Given the description of an element on the screen output the (x, y) to click on. 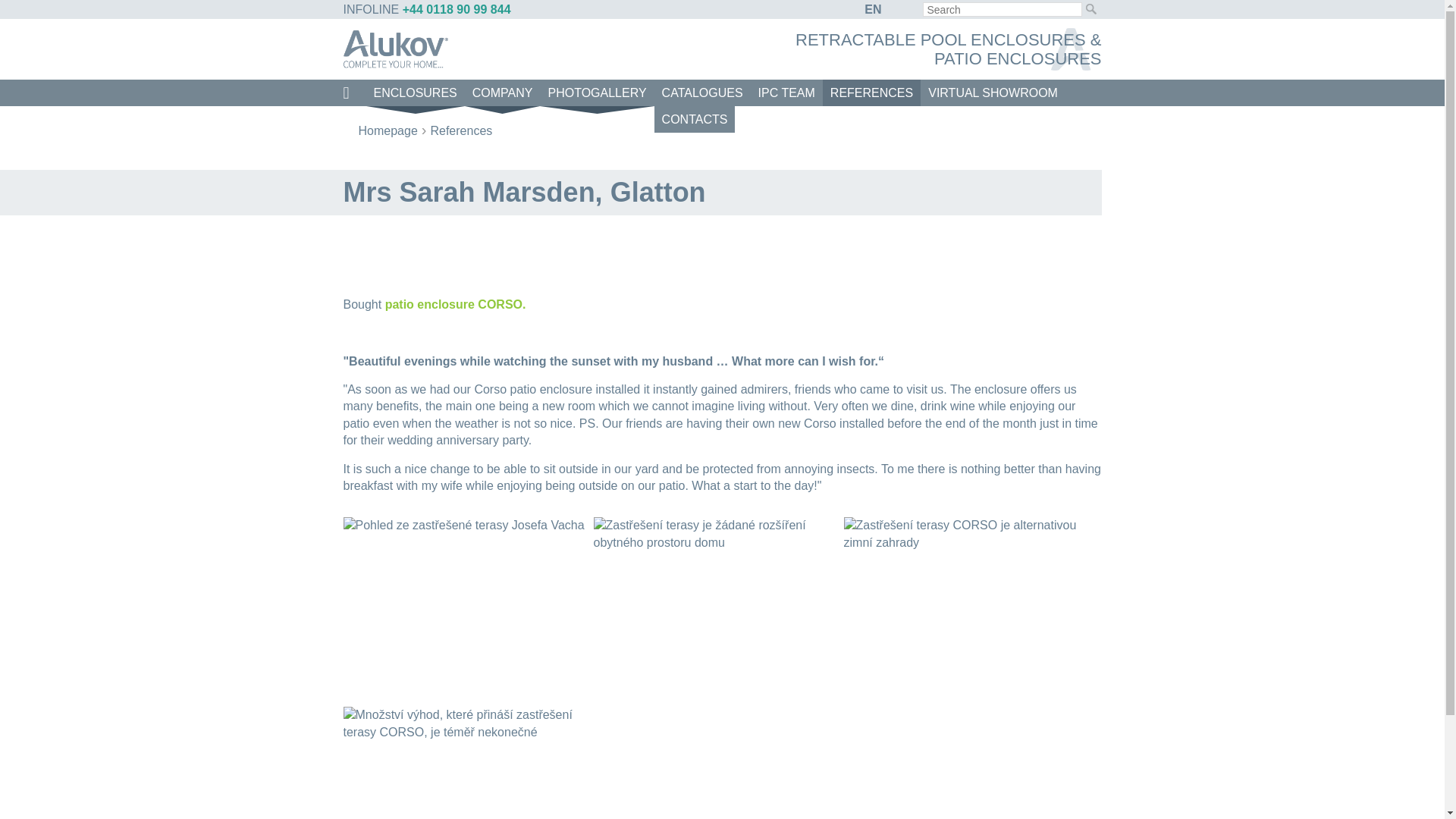
Search (1090, 9)
Search (1090, 9)
ENCLOSURES (414, 92)
